Given the description of an element on the screen output the (x, y) to click on. 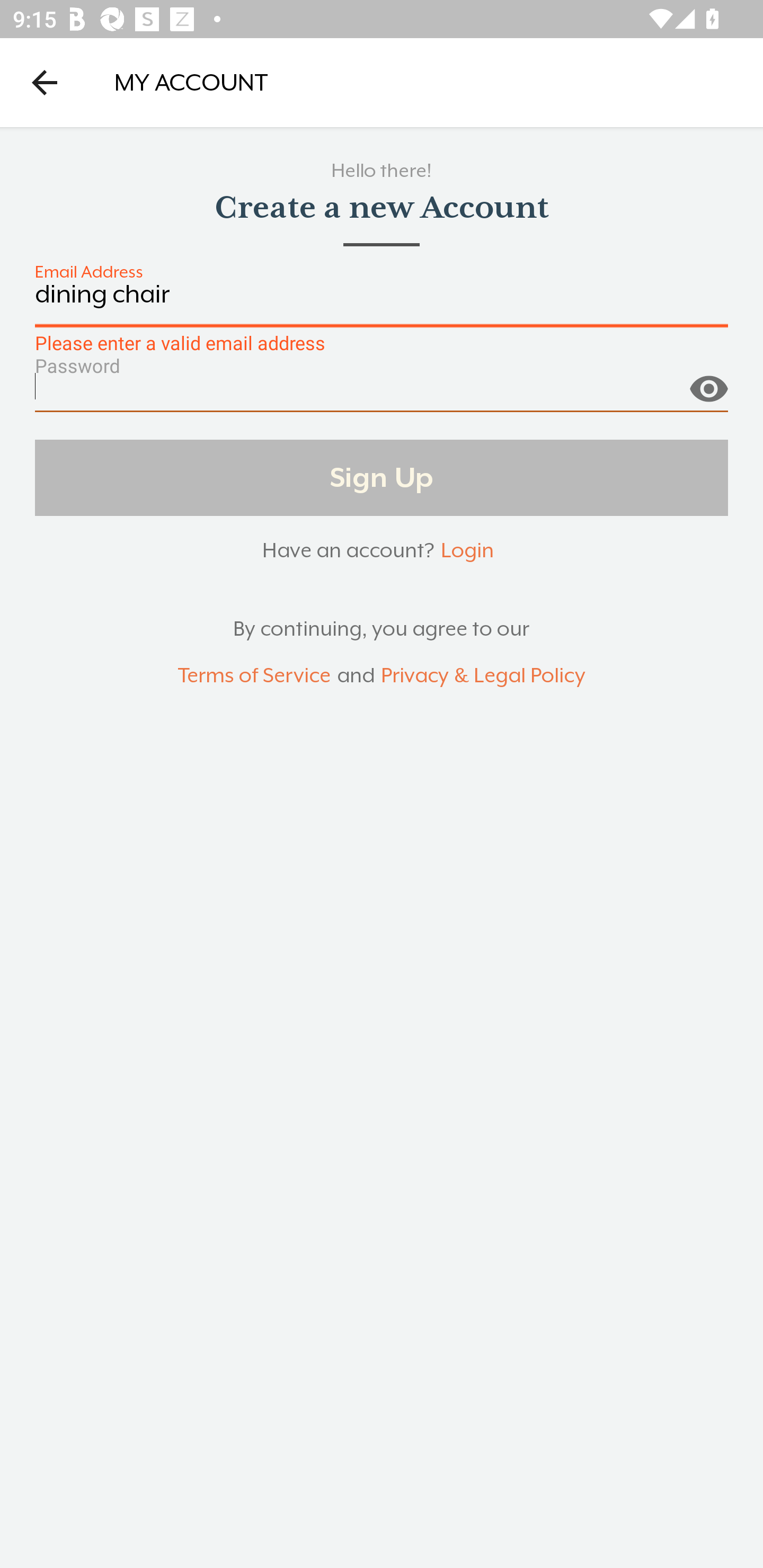
Navigate up (44, 82)
dining chair (381, 304)
 (708, 381)
Sign Up (381, 477)
Login (467, 550)
Terms of Service (253, 675)
Privacy & Legal Policy (483, 675)
